Given the description of an element on the screen output the (x, y) to click on. 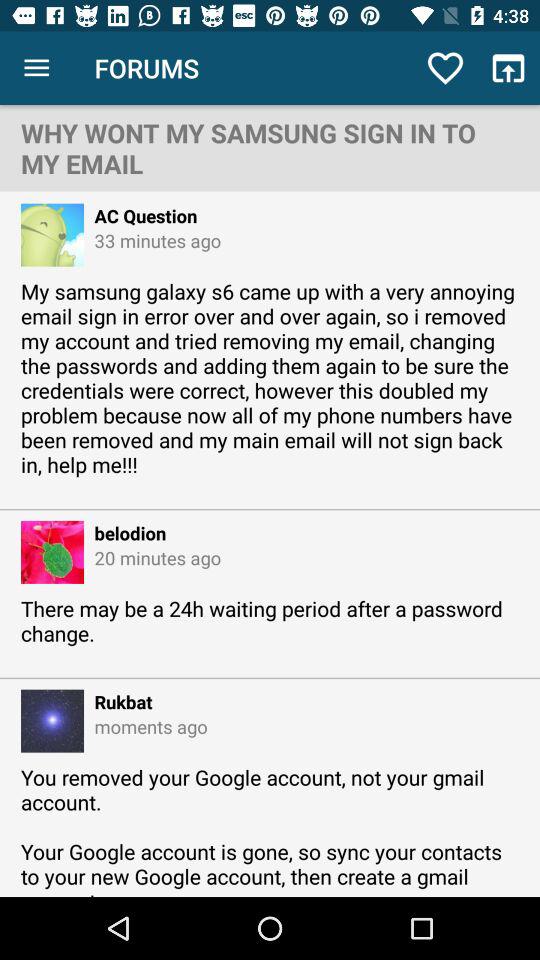
open belodion (125, 532)
